Given the description of an element on the screen output the (x, y) to click on. 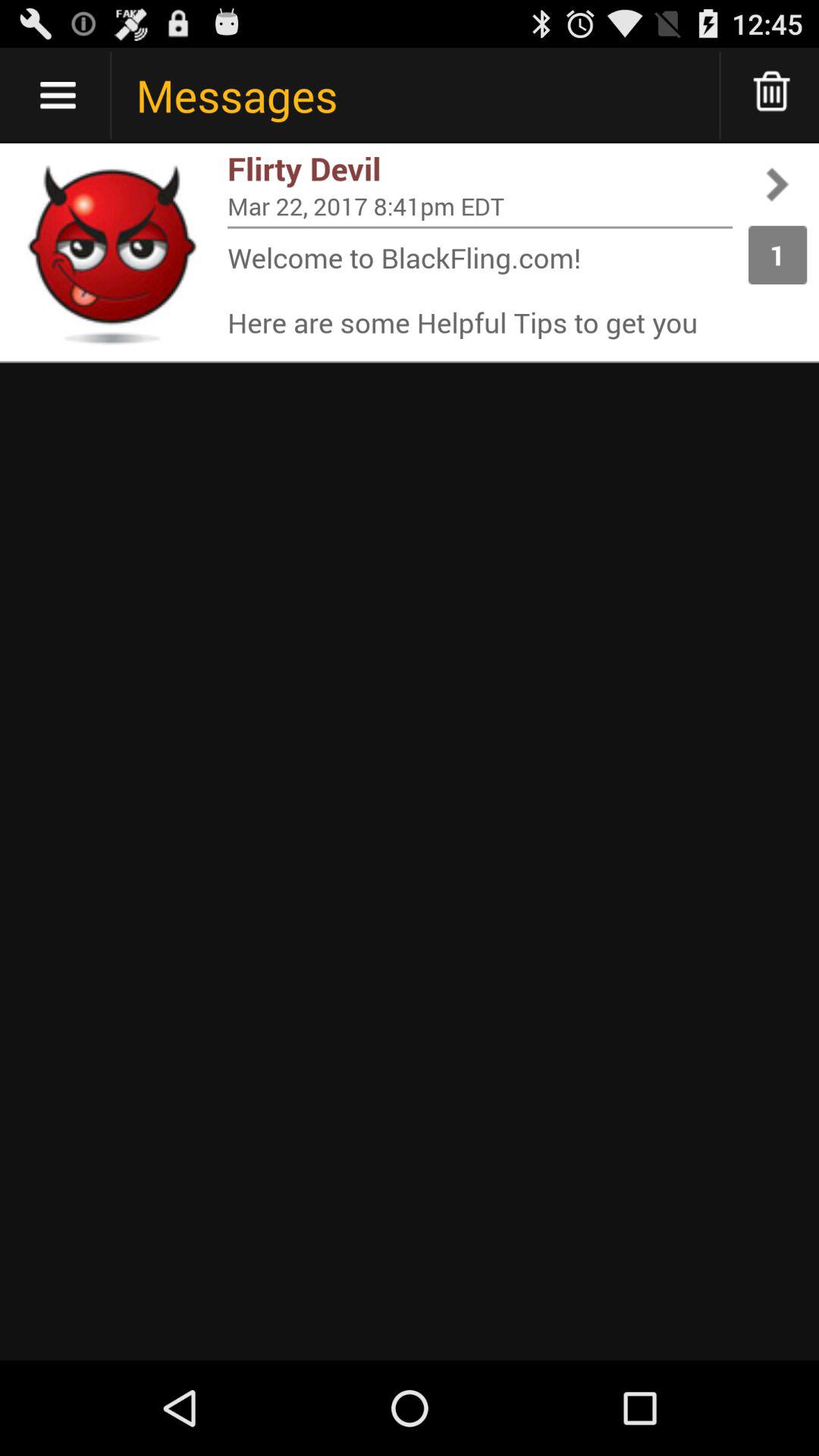
delete message (772, 95)
